Given the description of an element on the screen output the (x, y) to click on. 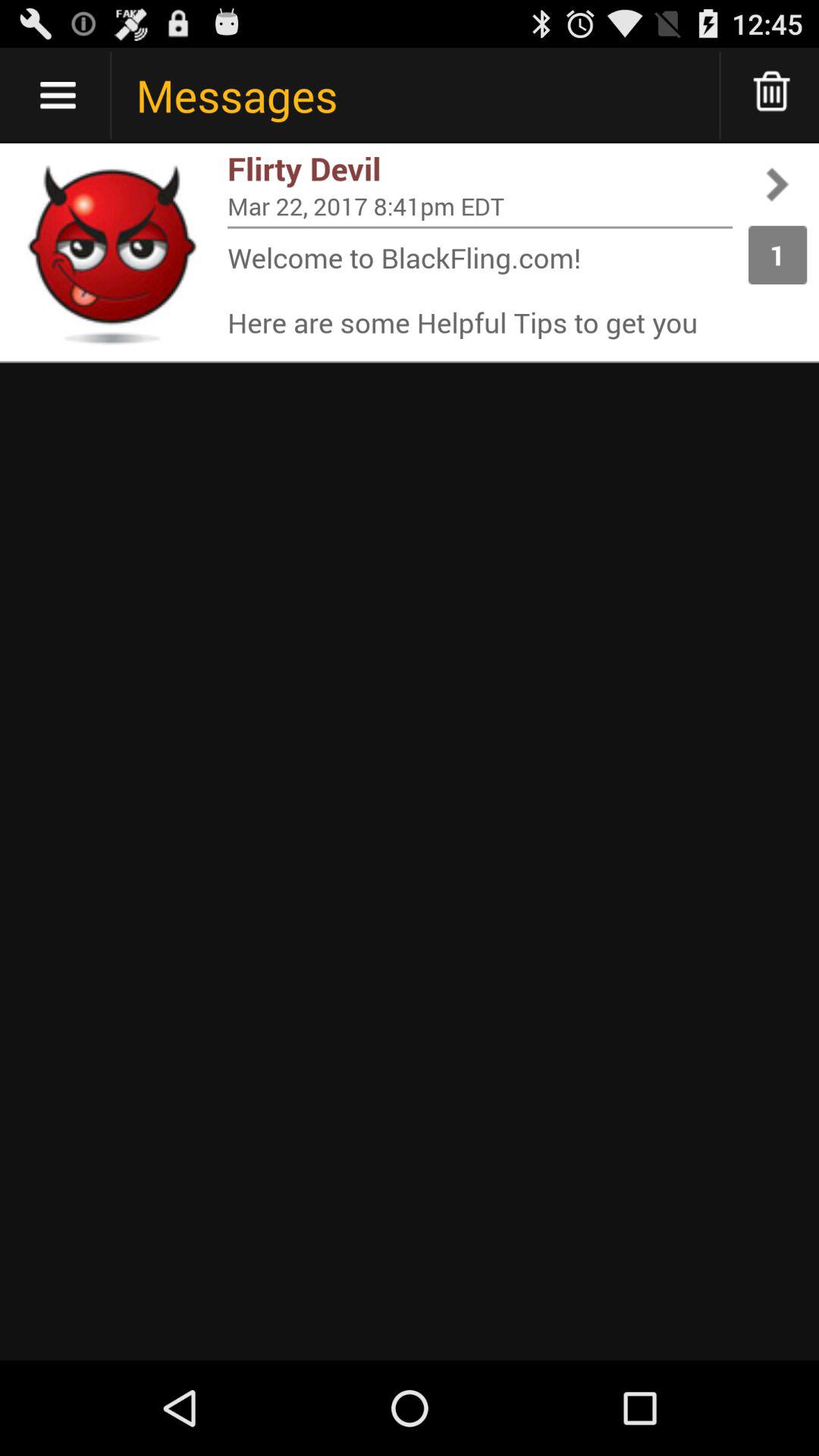
delete message (772, 95)
